Given the description of an element on the screen output the (x, y) to click on. 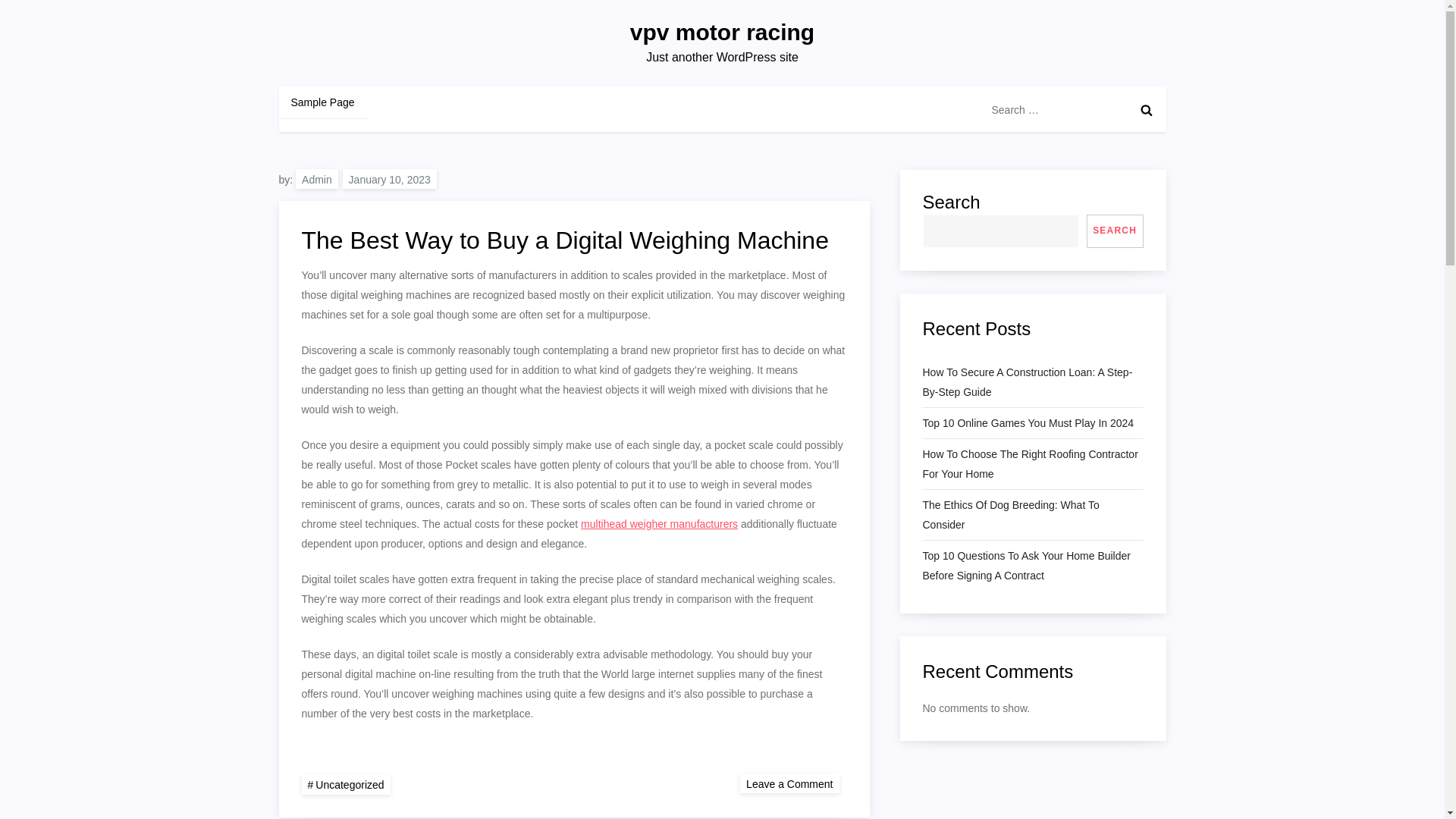
SEARCH (1114, 231)
The Ethics Of Dog Breeding: What To Consider (1031, 514)
vpv motor racing (721, 32)
Sample Page (322, 101)
Uncategorized (345, 783)
Top 10 Online Games You Must Play In 2024 (1027, 423)
How To Secure A Construction Loan: A Step-By-Step Guide (1031, 382)
January 10, 2023 (389, 178)
